Given the description of an element on the screen output the (x, y) to click on. 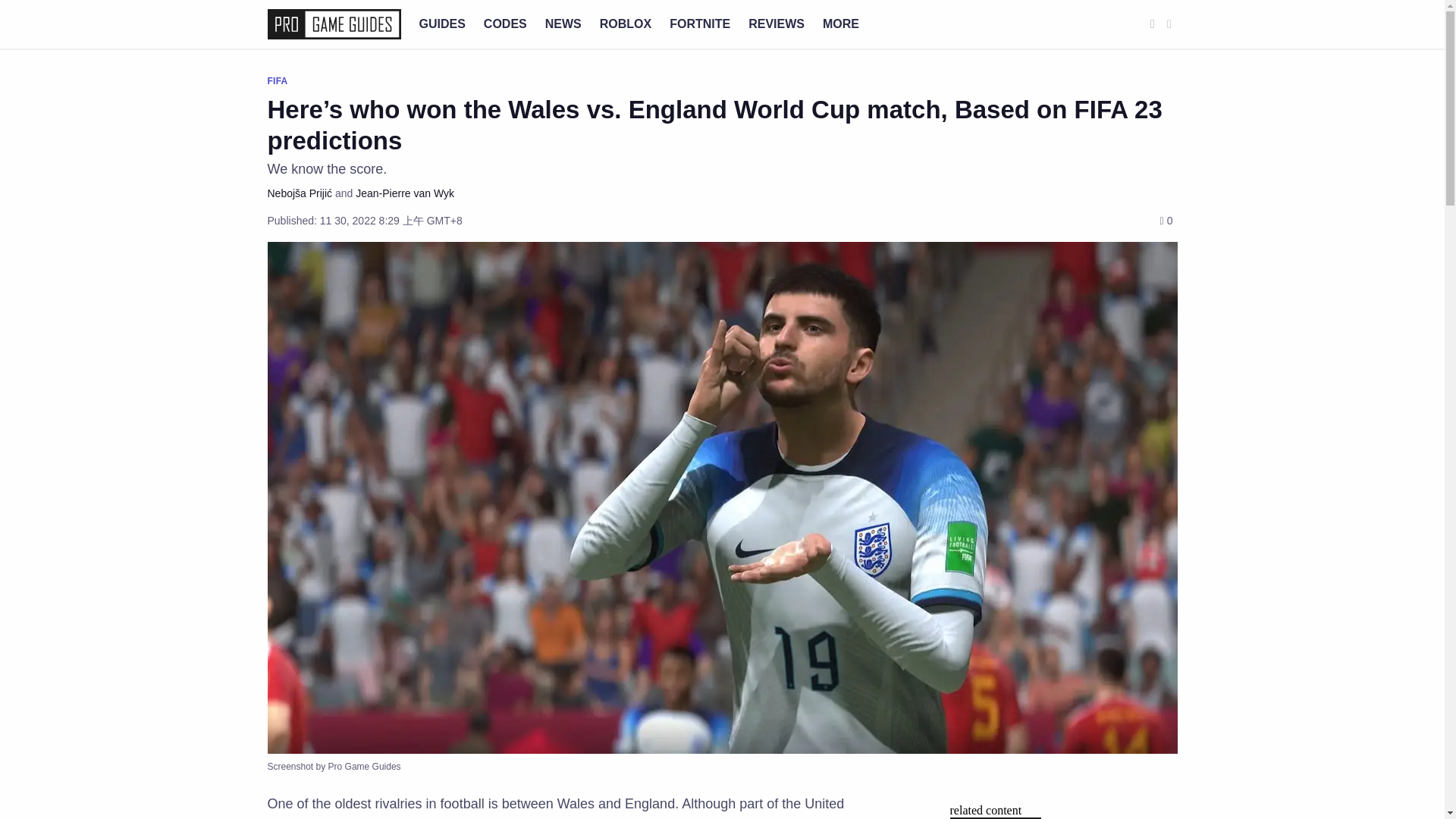
FORTNITE (699, 23)
NEWS (562, 23)
CODES (505, 23)
ROBLOX (624, 23)
GUIDES (441, 23)
REVIEWS (776, 23)
